Given the description of an element on the screen output the (x, y) to click on. 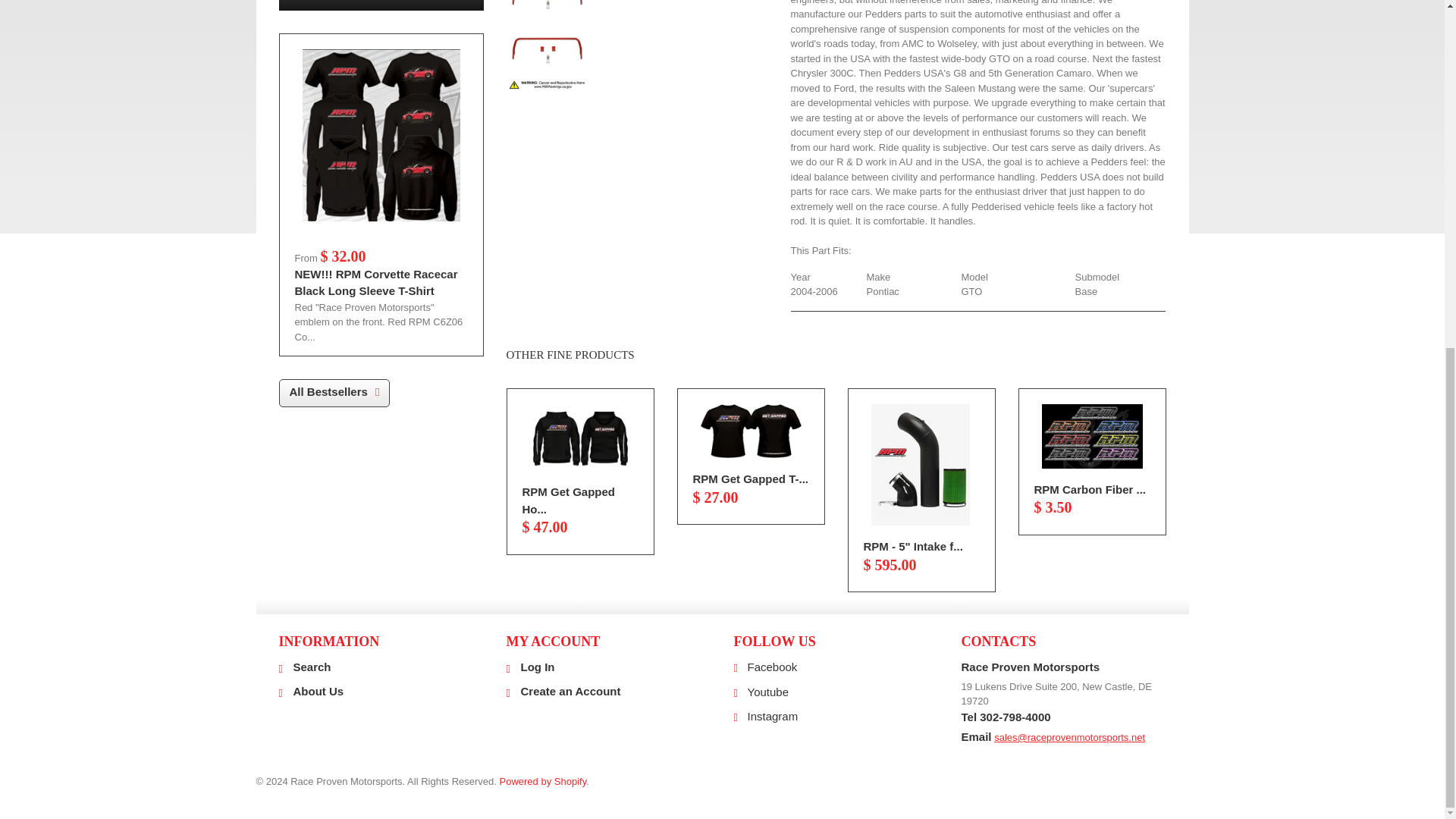
RPM Get Gapped T-... (751, 478)
RPM Carbon Fiber Style Stickers (1090, 489)
RPM Get Gapped Ho... (567, 500)
RPM - 5" Intake for LSA CTS-V (912, 545)
RPM - 5" Intake f... (912, 545)
RPM Get Gapped Hoodie (579, 437)
RPM - 5" Intake for LSA CTS-V (920, 464)
RPM Get Gapped Hoodie (567, 500)
RPM Carbon Fiber ... (1090, 489)
RPM Get Gapped T-Shirt (751, 478)
RPM Carbon Fiber Style Stickers (1091, 436)
RPM Get Gapped T-Shirt (751, 430)
